Given the description of an element on the screen output the (x, y) to click on. 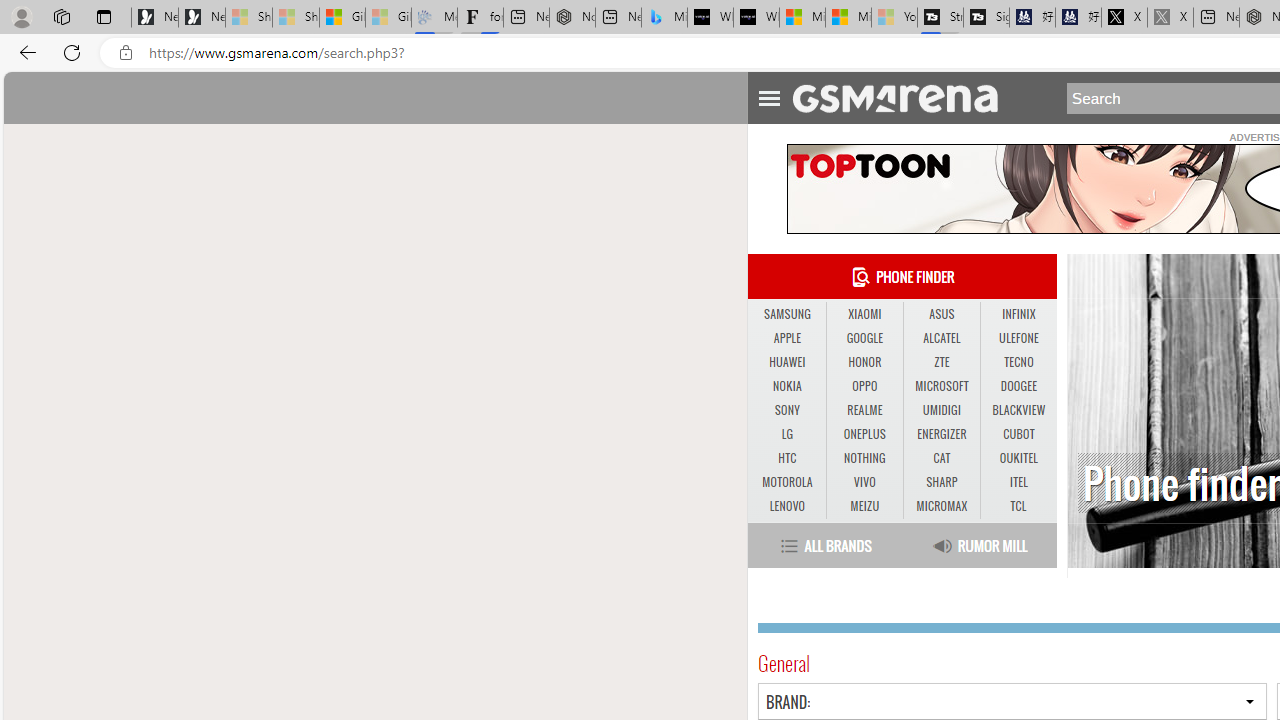
ULEFONE (1018, 339)
BLACKVIEW (1018, 411)
VIVO (863, 482)
MICROSOFT (941, 386)
ZTE (941, 362)
DOOGEE (1018, 385)
GOOGLE (864, 339)
MOTOROLA (786, 482)
LG (786, 434)
REALME (863, 410)
CUBOT (1018, 434)
